Given the description of an element on the screen output the (x, y) to click on. 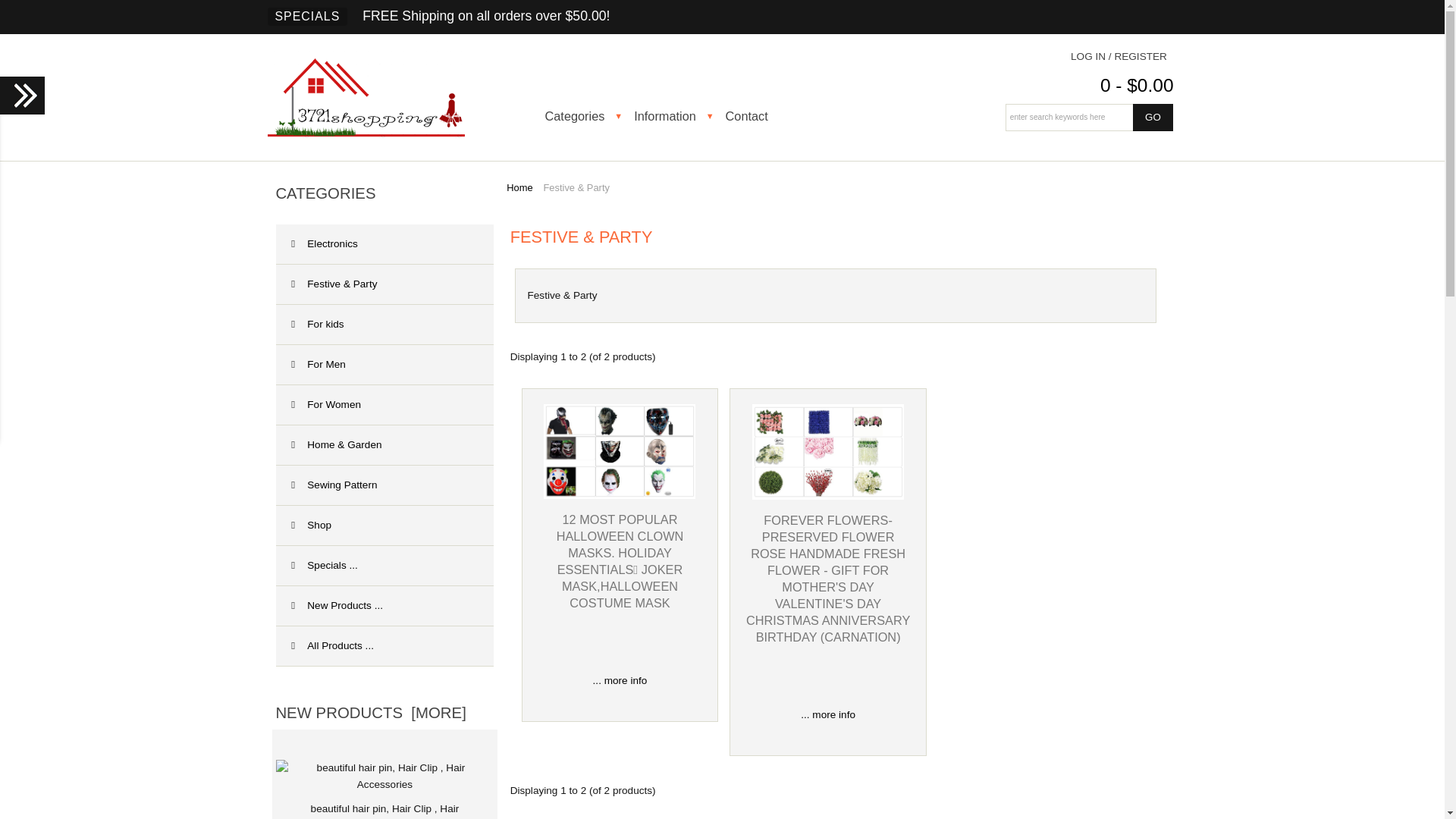
... more info Element type: text (620, 680)
For kids Element type: text (384, 324)
For Women Element type: text (384, 405)
New Products ... Element type: text (384, 606)
For Men Element type: text (384, 365)
SPECIALS Element type: text (306, 15)
LOG IN / REGISTER Element type: text (1118, 56)
0 - $0.00 Element type: text (1136, 85)
Festive & Party Element type: text (384, 284)
... more info Element type: text (827, 714)
Home Element type: text (519, 187)
go Element type: text (1152, 117)
NEW PRODUCTS  [MORE] Element type: text (370, 712)
Electronics Element type: text (384, 244)
Contact Element type: text (757, 115)
Categories Element type: text (584, 115)
Home & Garden Element type: text (384, 445)
All Products ... Element type: text (384, 646)
Sewing Pattern Element type: text (384, 485)
Shop Element type: text (384, 525)
Information Element type: text (675, 115)
Specials ... Element type: text (384, 566)
